Given the description of an element on the screen output the (x, y) to click on. 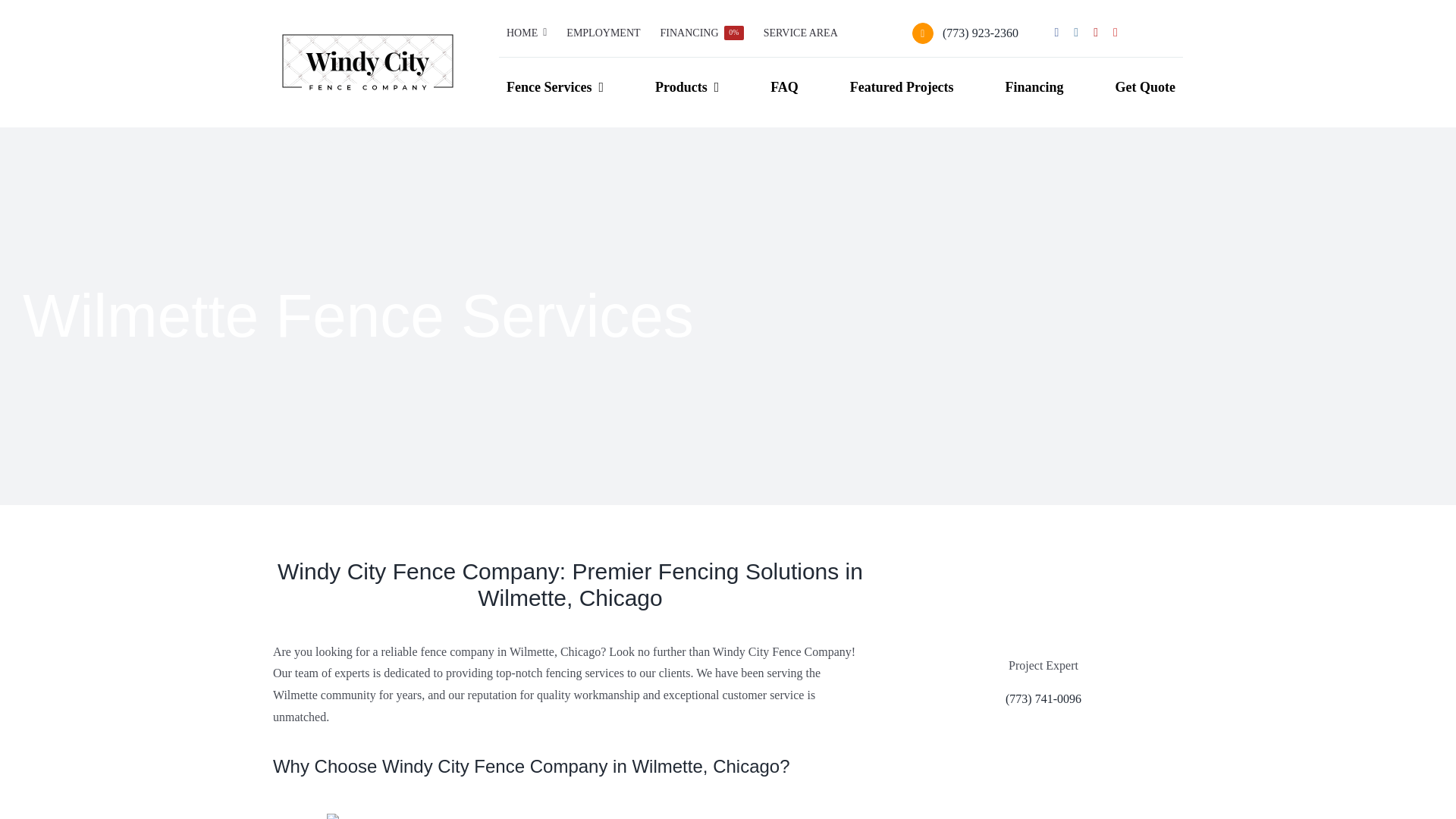
Fence Services (555, 87)
HOME (526, 32)
EMPLOYMENT (603, 32)
SERVICE AREA (800, 32)
avada-team2-174543104 (1042, 606)
